Given the description of an element on the screen output the (x, y) to click on. 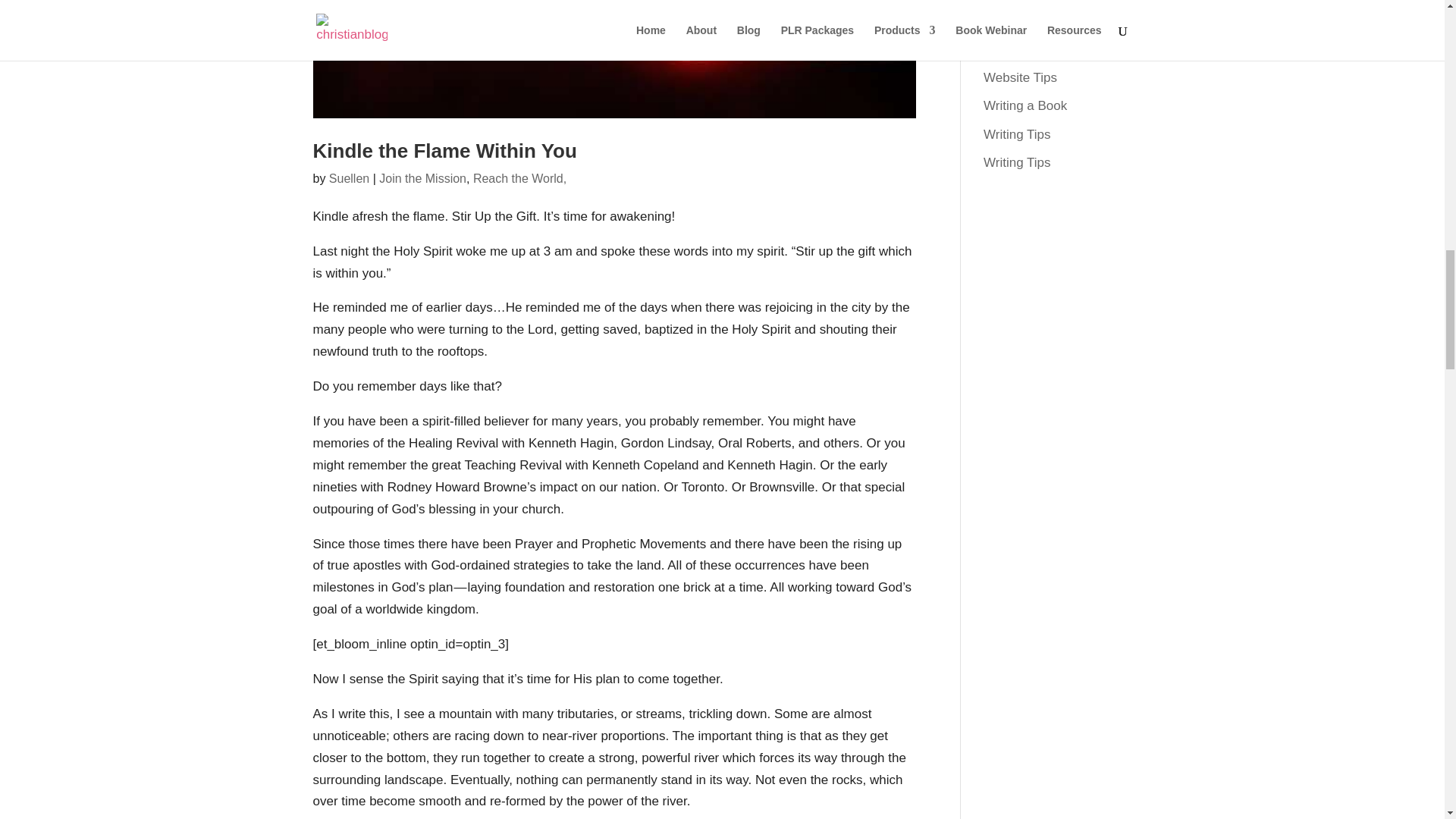
Reach the World, (519, 178)
Suellen (349, 178)
Kindle the Flame Within You (444, 150)
Posts by Suellen (349, 178)
Join the Mission (421, 178)
